Given the description of an element on the screen output the (x, y) to click on. 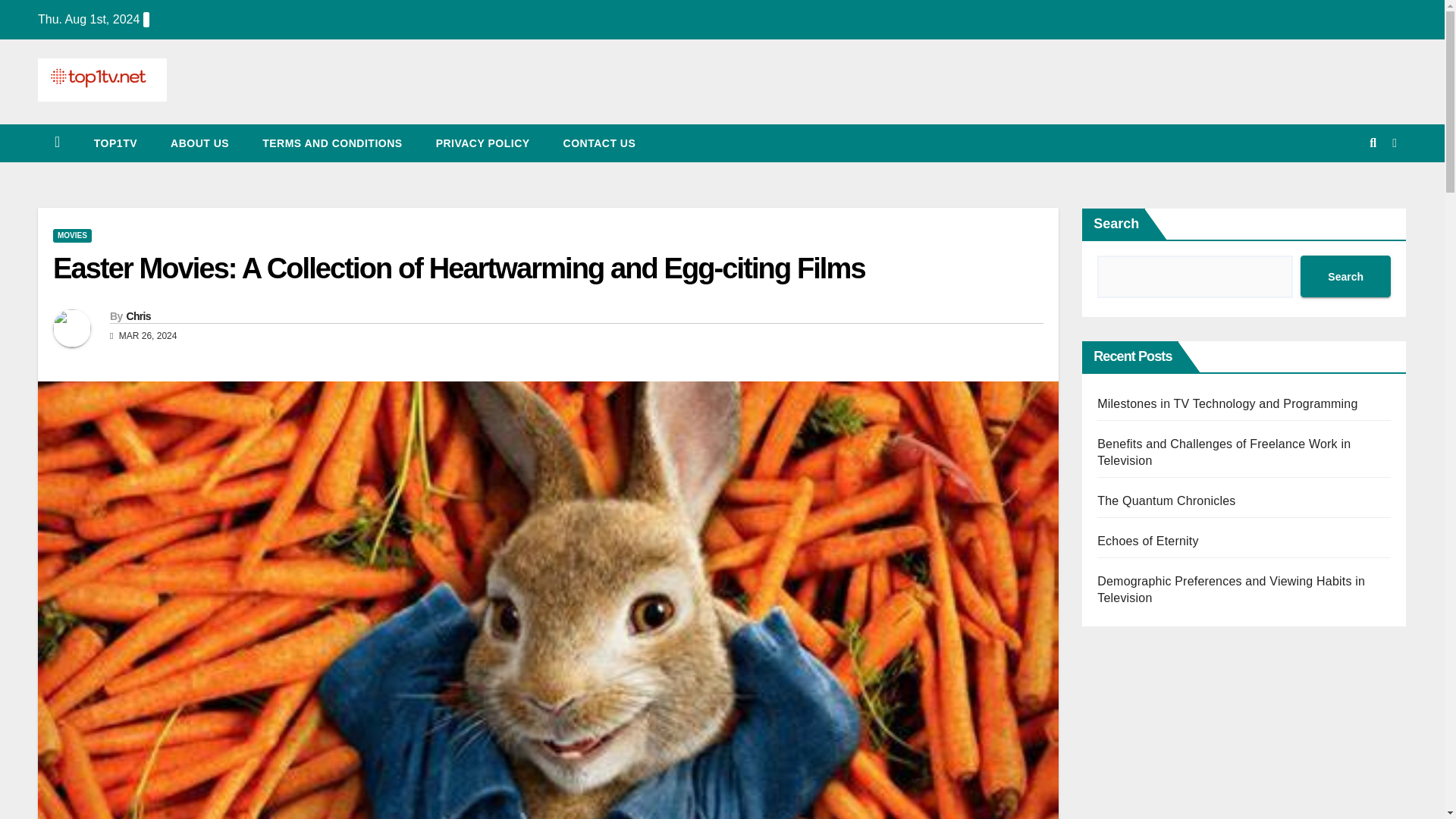
TOP1TV (115, 143)
CONTACT US (599, 143)
Terms and Conditions (332, 143)
Chris (137, 316)
PRIVACY POLICY (483, 143)
Contact Us (599, 143)
About Us (200, 143)
Privacy policy (483, 143)
TERMS AND CONDITIONS (332, 143)
Top1TV (115, 143)
ABOUT US (200, 143)
MOVIES (71, 235)
